Given the description of an element on the screen output the (x, y) to click on. 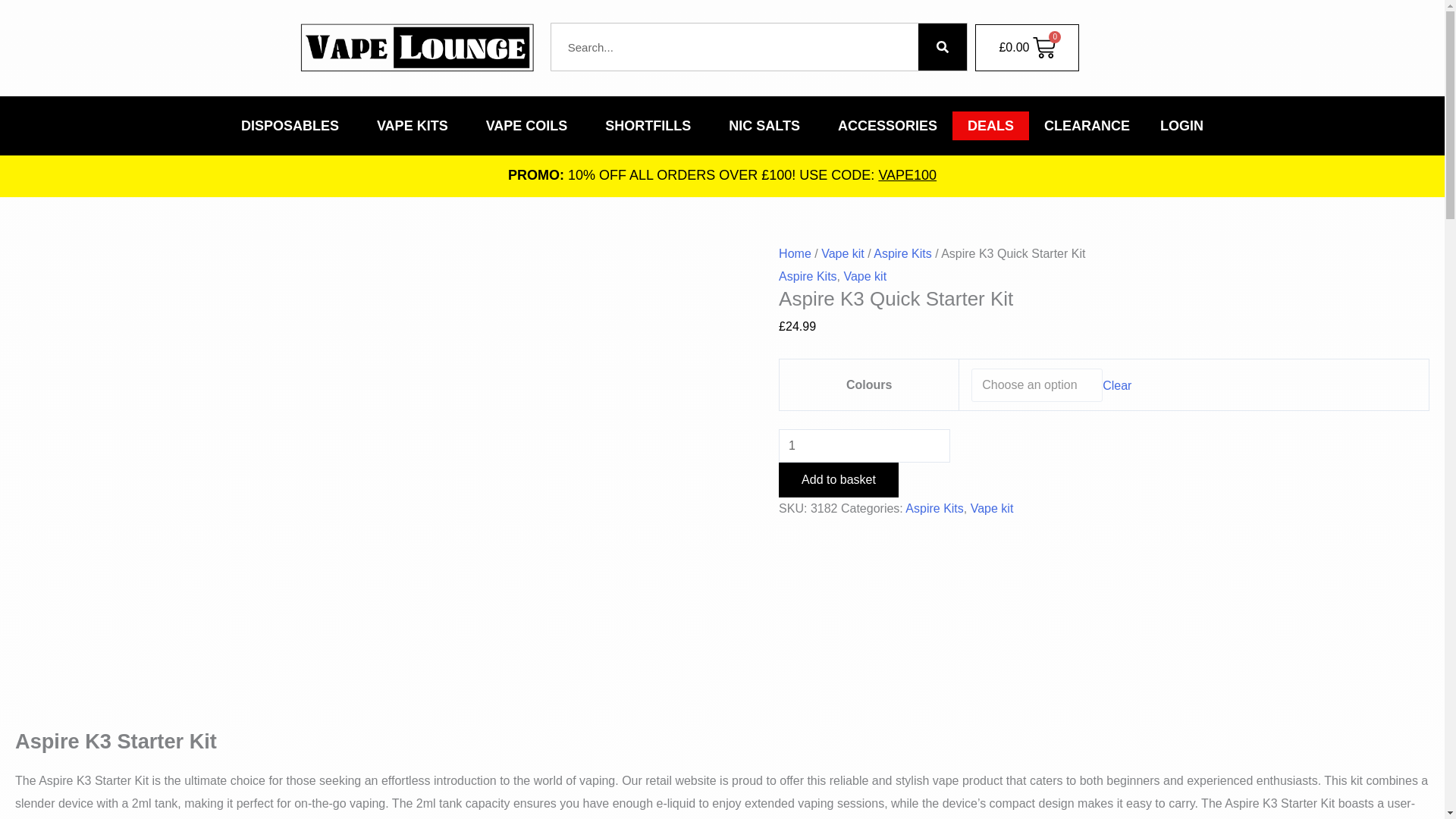
VAPE COILS (530, 125)
Search (942, 46)
VAPE KITS (415, 125)
DISPOSABLES (293, 125)
1 (864, 445)
SHORTFILLS (651, 125)
